Given the description of an element on the screen output the (x, y) to click on. 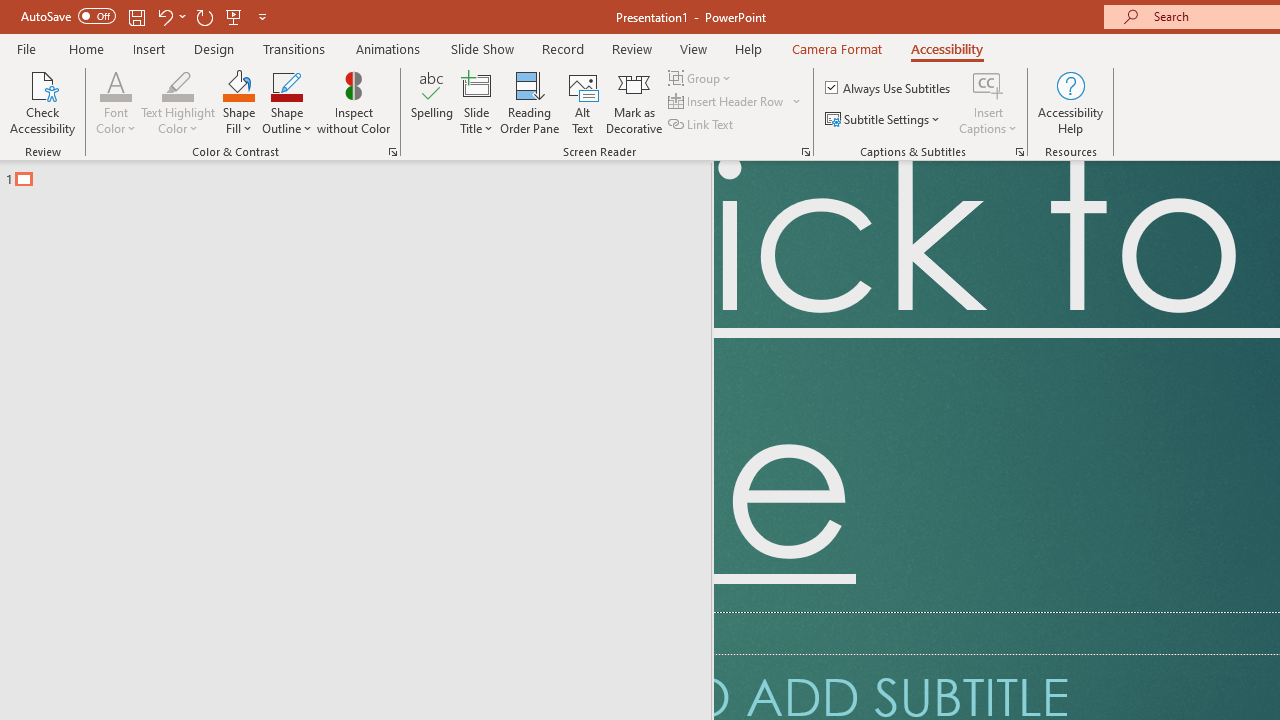
Captions & Subtitles (1019, 151)
Slide Title (476, 102)
Insert Captions (988, 84)
Subtitle Settings (884, 119)
